Given the description of an element on the screen output the (x, y) to click on. 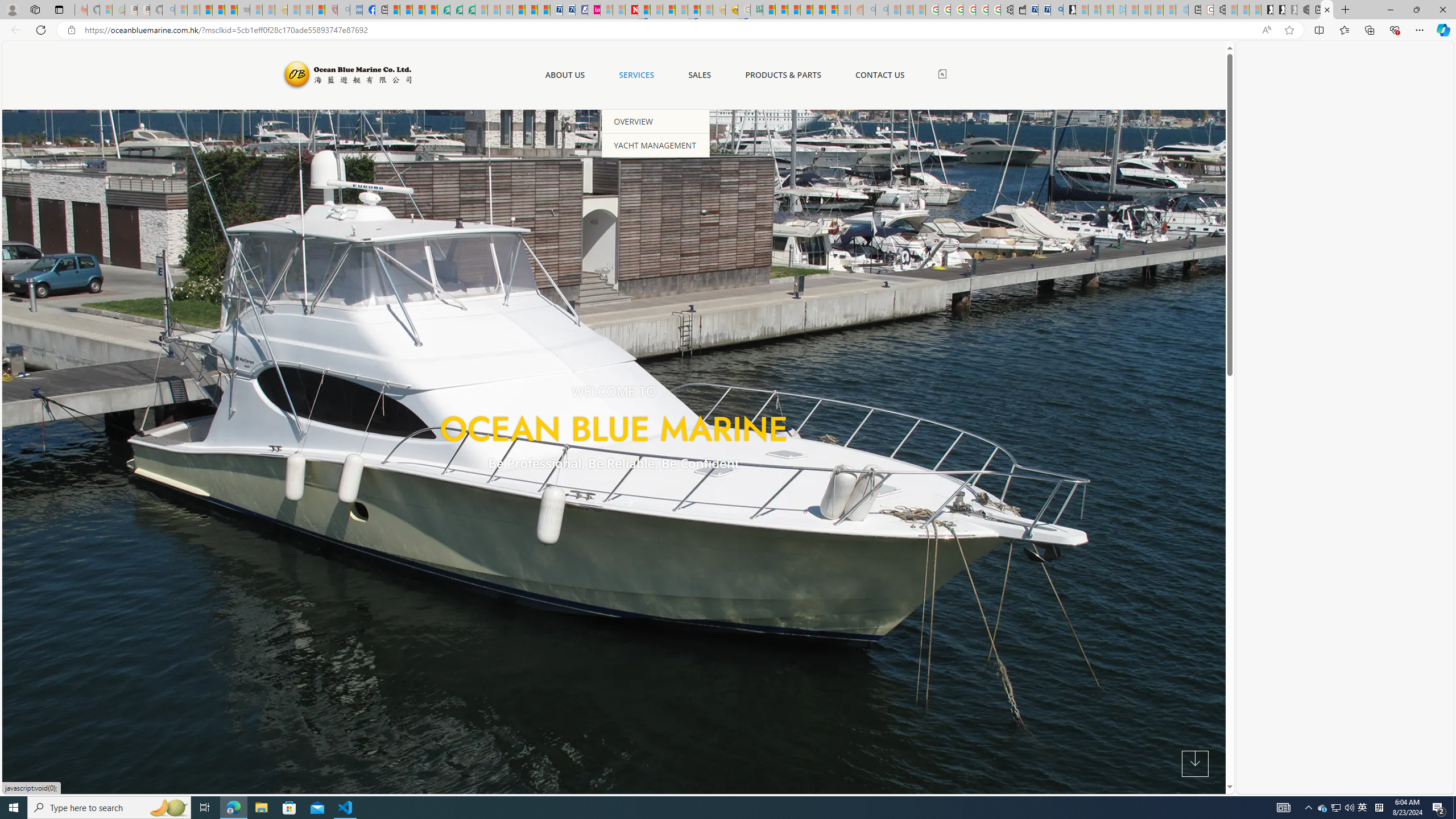
SALES (699, 75)
Wallet (1019, 9)
OVERVIEW (656, 120)
